Given the description of an element on the screen output the (x, y) to click on. 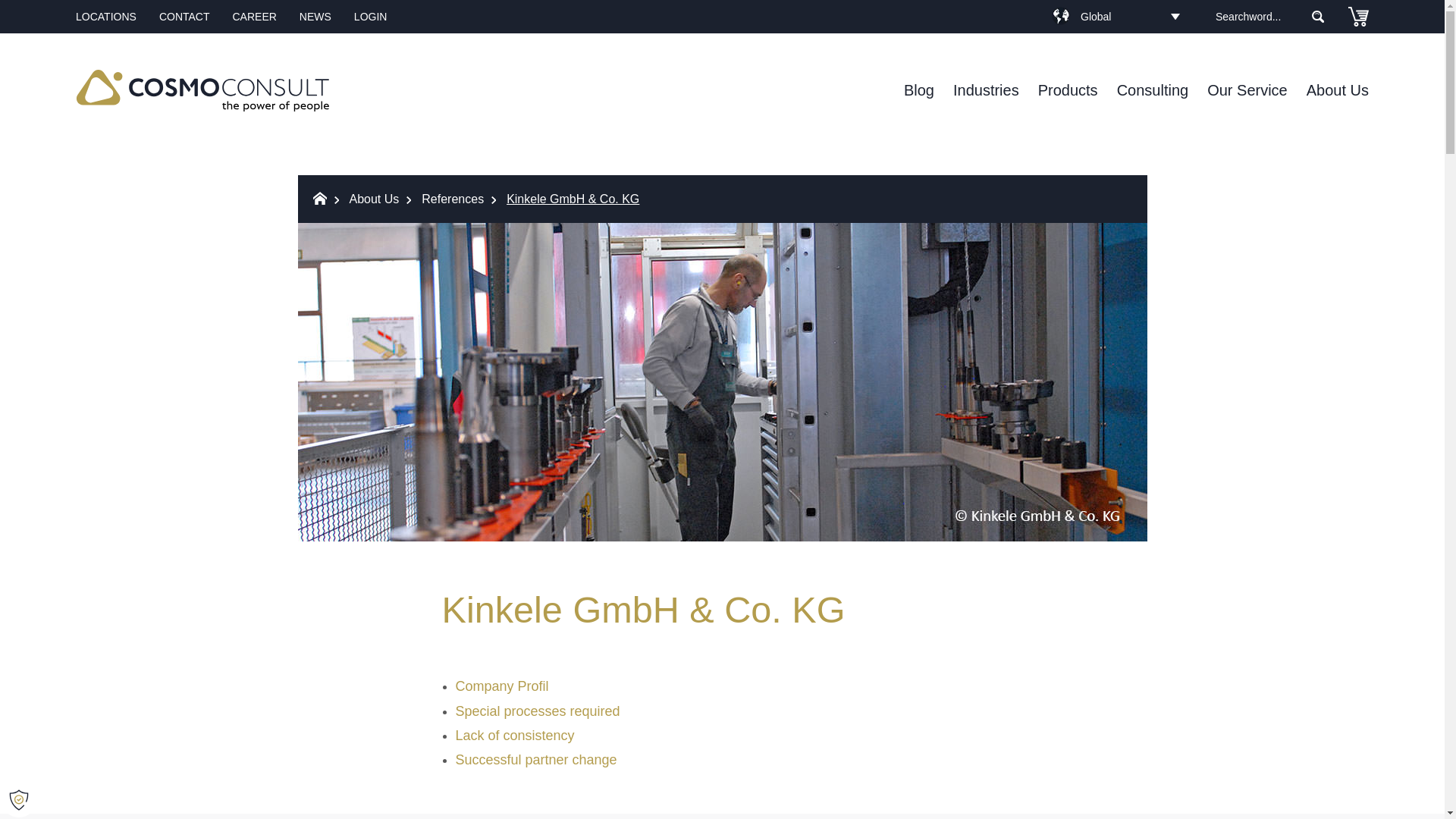
MARKETPLACE COSMO365 (1358, 16)
NEWS (315, 16)
Blog (919, 90)
Global (1115, 15)
CONTACT (183, 16)
Search (1317, 16)
LOGIN (370, 16)
Search (1317, 16)
Industries (986, 90)
LOCATIONS (105, 16)
CAREER (253, 16)
Cosmo Consult (202, 91)
